Given the description of an element on the screen output the (x, y) to click on. 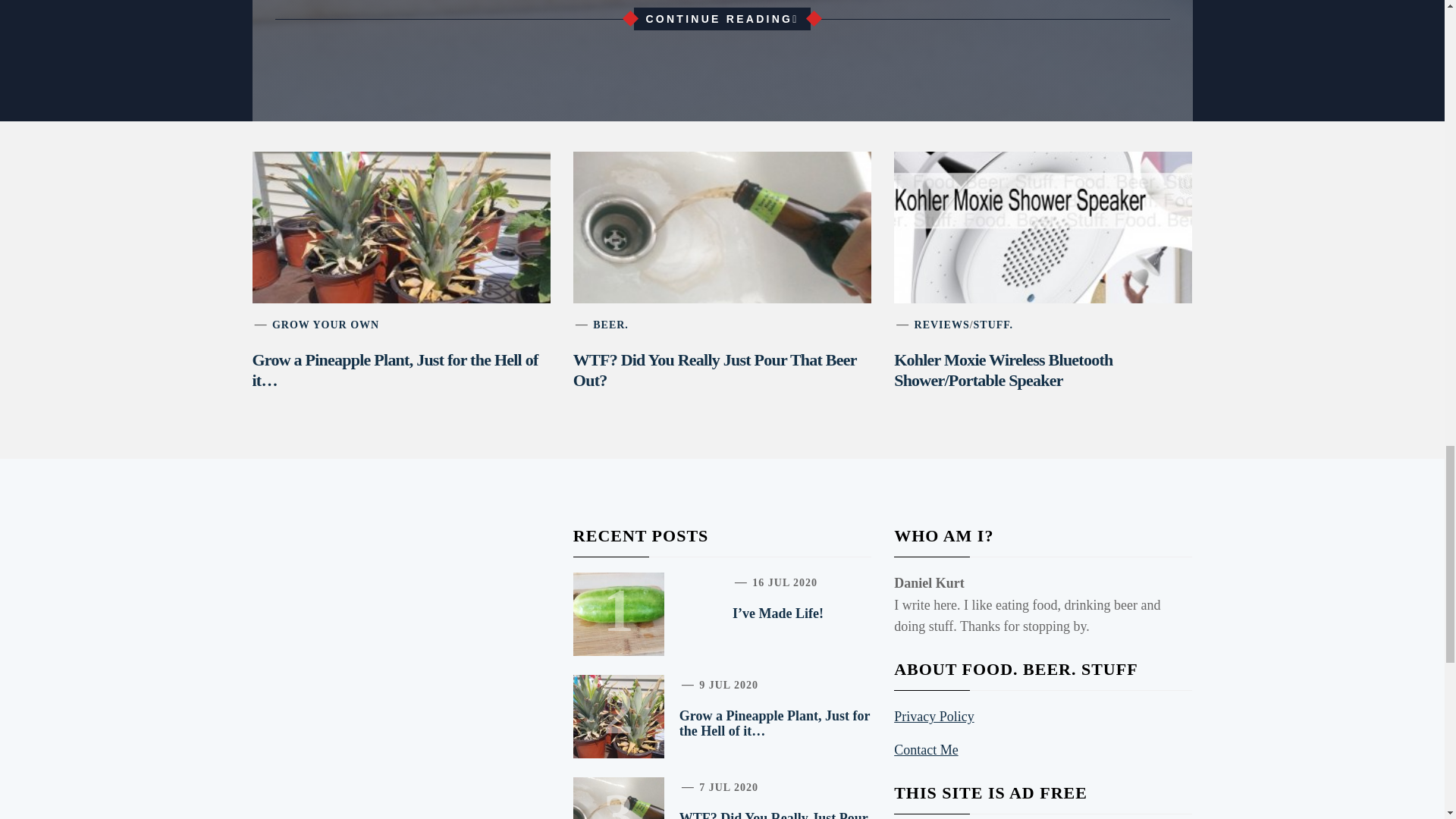
GROW YOUR OWN (325, 324)
STUFF. (993, 324)
BEER. (610, 324)
REVIEWS (941, 324)
CONTINUE READING (721, 18)
WTF? Did You Really Just Pour That Beer Out? (715, 369)
